Given the description of an element on the screen output the (x, y) to click on. 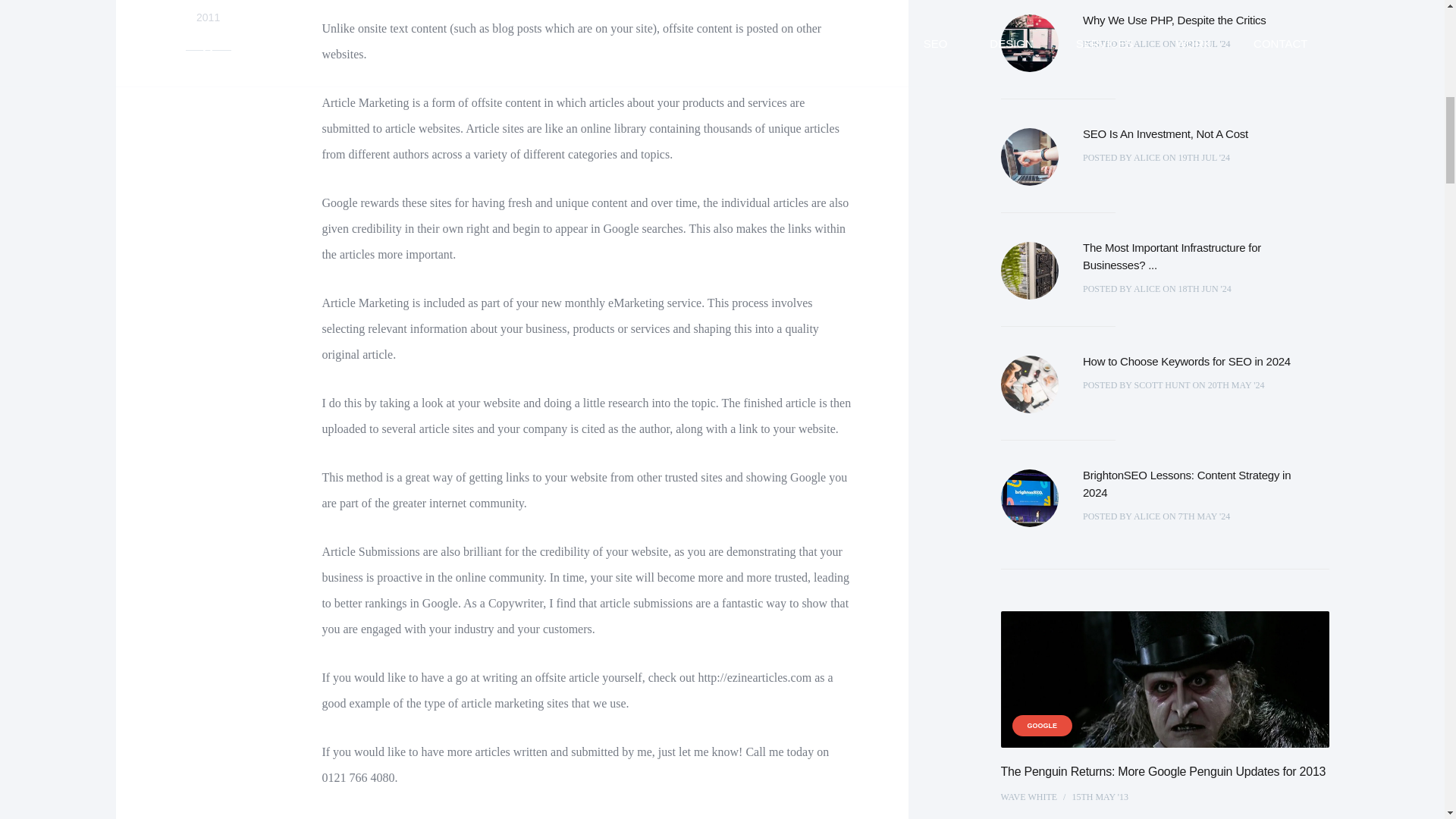
SCOTT HUNT (1162, 385)
23RD JUL '24 (1203, 43)
Why We Use PHP, Despite the Critics (1174, 20)
20TH MAY '24 (1236, 385)
19TH JUL '24 (1203, 157)
18TH JUN '24 (208, 38)
ALICE (1204, 288)
The Most Important Infrastructure for Businesses? ... (1147, 157)
How to Choose Keywords for SEO in 2024 (1193, 256)
